Given the description of an element on the screen output the (x, y) to click on. 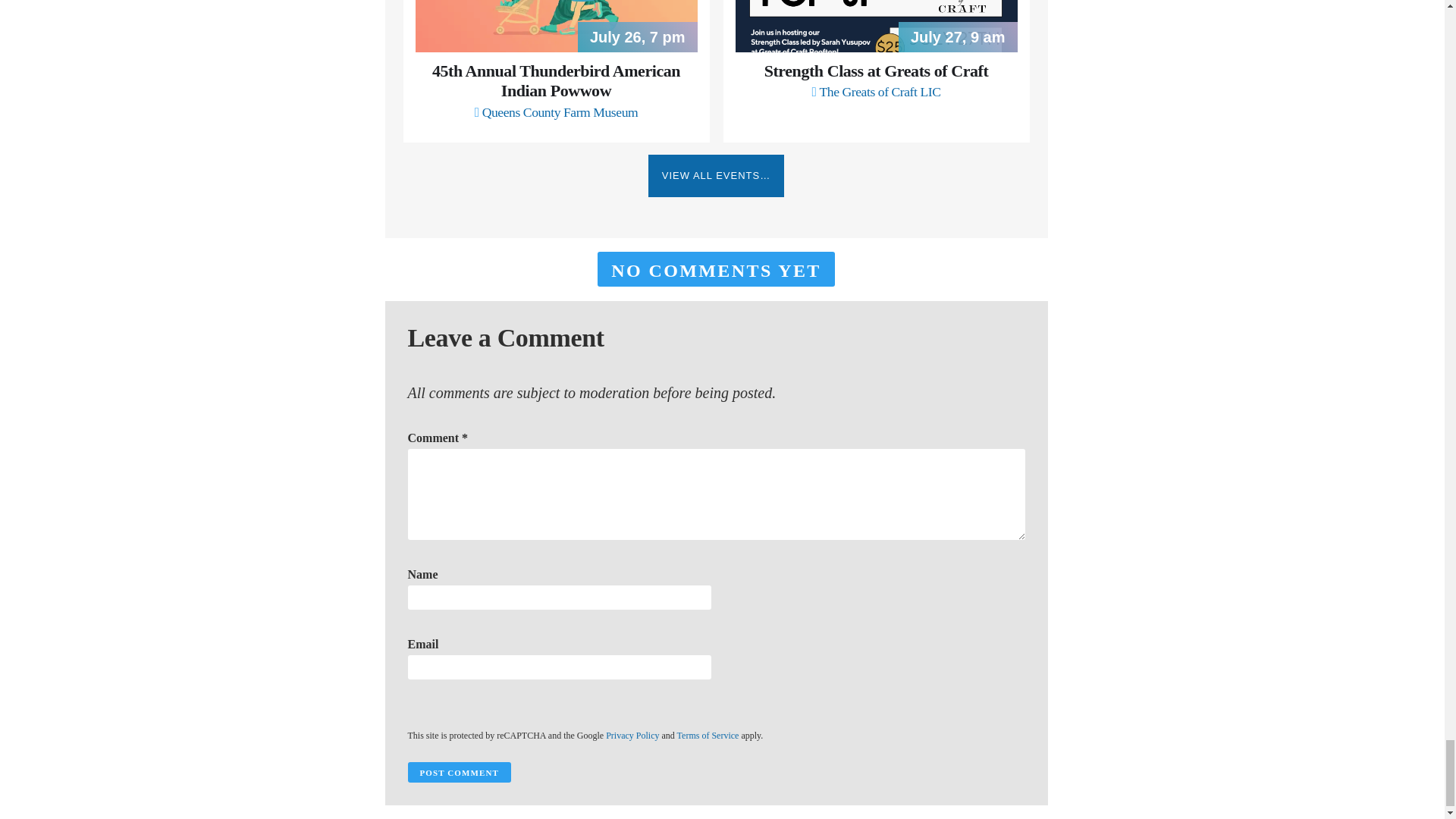
Please wait until Google reCAPTCHA is loaded. (459, 772)
Post Comment (459, 772)
